Given the description of an element on the screen output the (x, y) to click on. 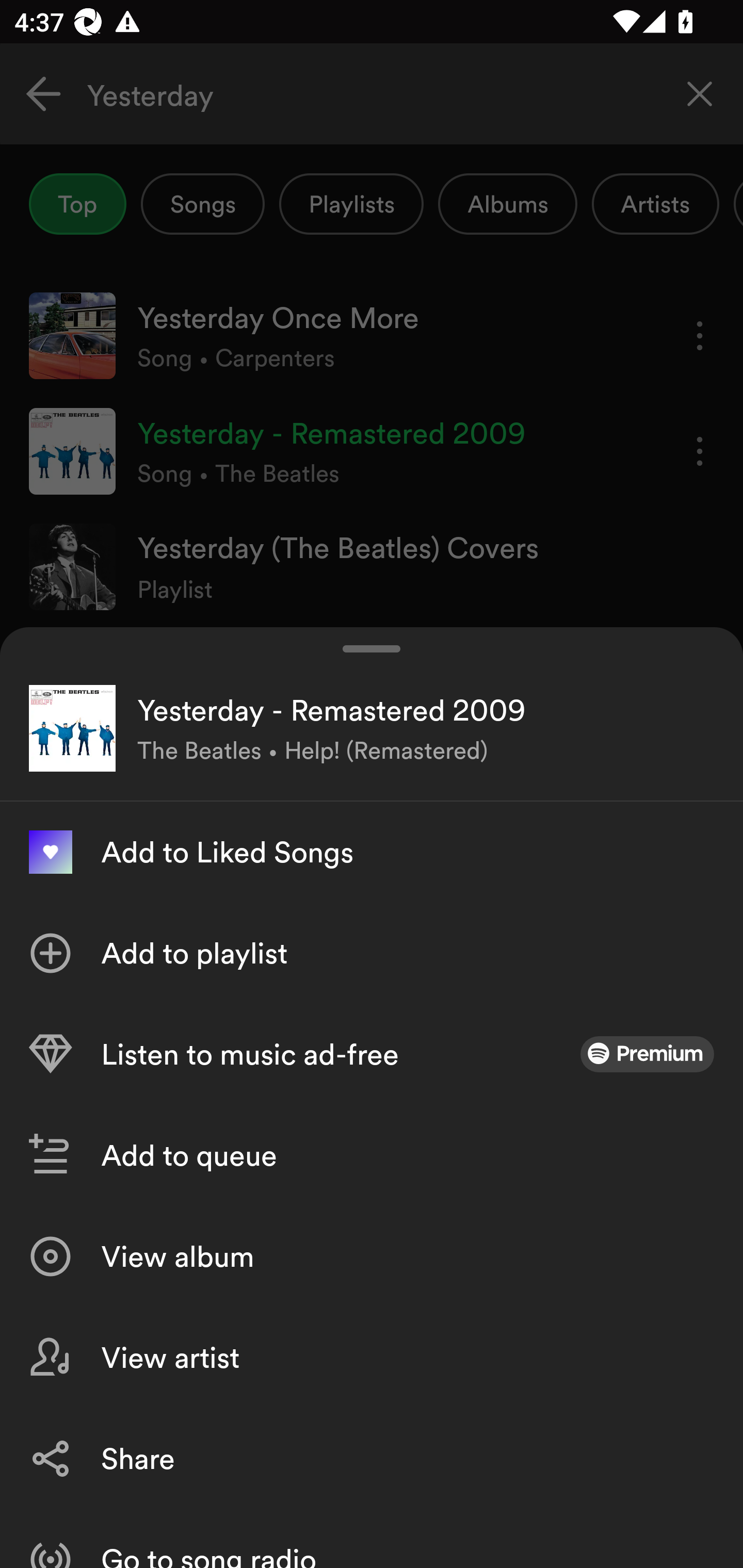
Add to Liked Songs (371, 852)
Add to playlist (371, 953)
Listen to music ad-free (371, 1054)
Add to queue (371, 1155)
View album (371, 1256)
View artist (371, 1357)
Share (371, 1458)
Go to song radio (371, 1538)
